Given the description of an element on the screen output the (x, y) to click on. 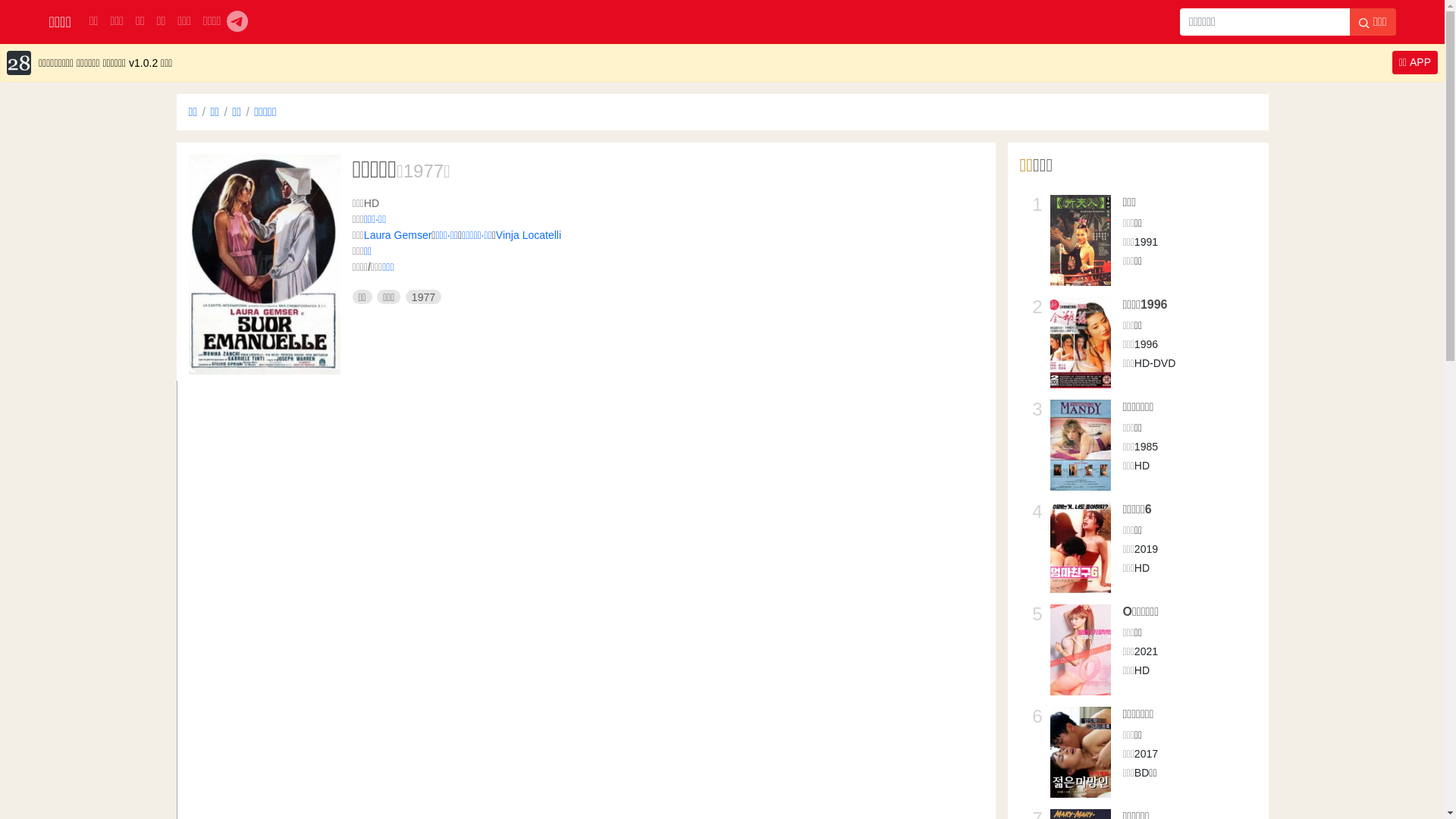
Laura Gemser Element type: text (397, 235)
1977 Element type: text (423, 170)
Vinja Locatelli Element type: text (528, 235)
1977 Element type: text (423, 296)
